Given the description of an element on the screen output the (x, y) to click on. 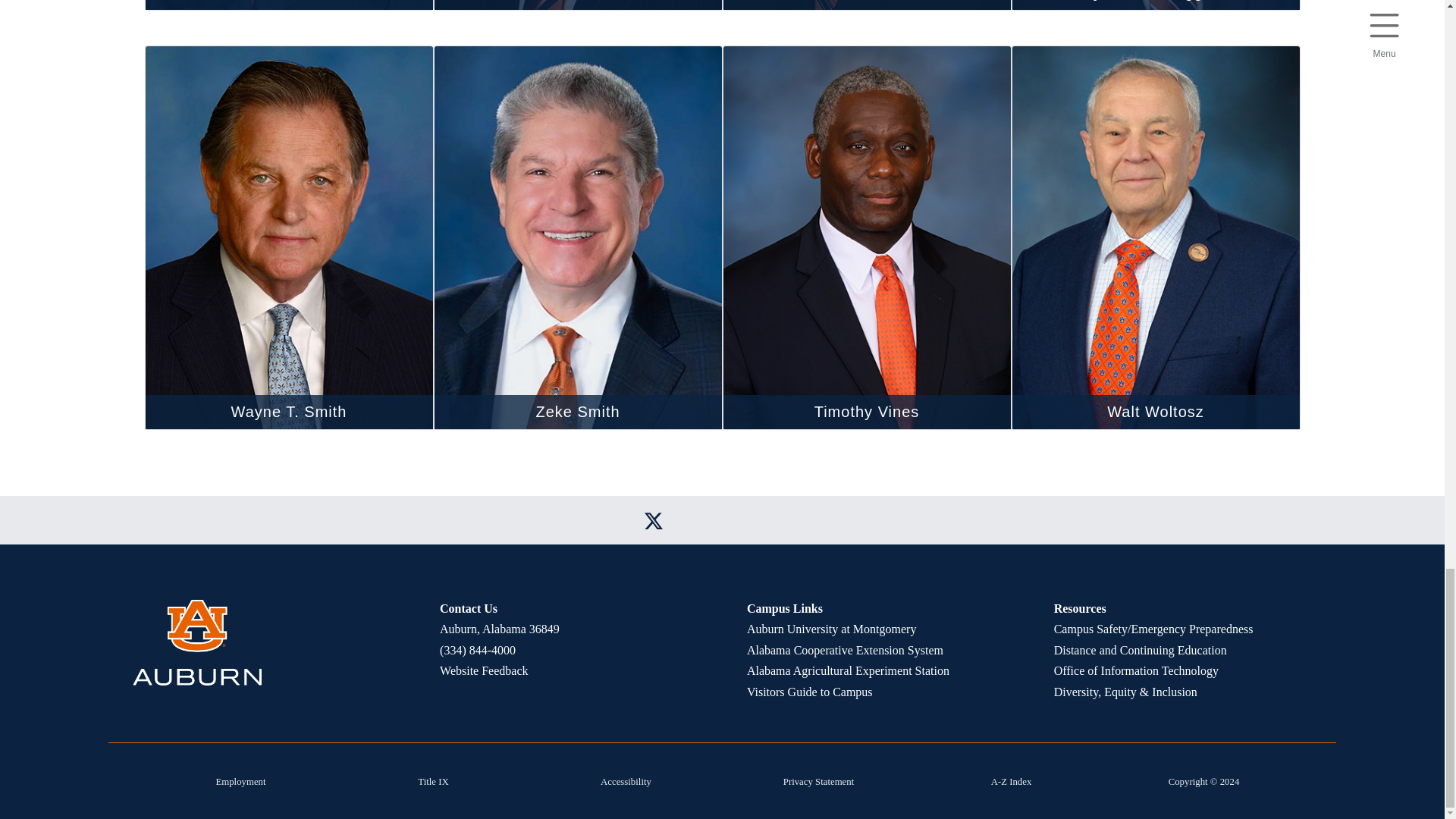
link to university homepage (261, 642)
